Given the description of an element on the screen output the (x, y) to click on. 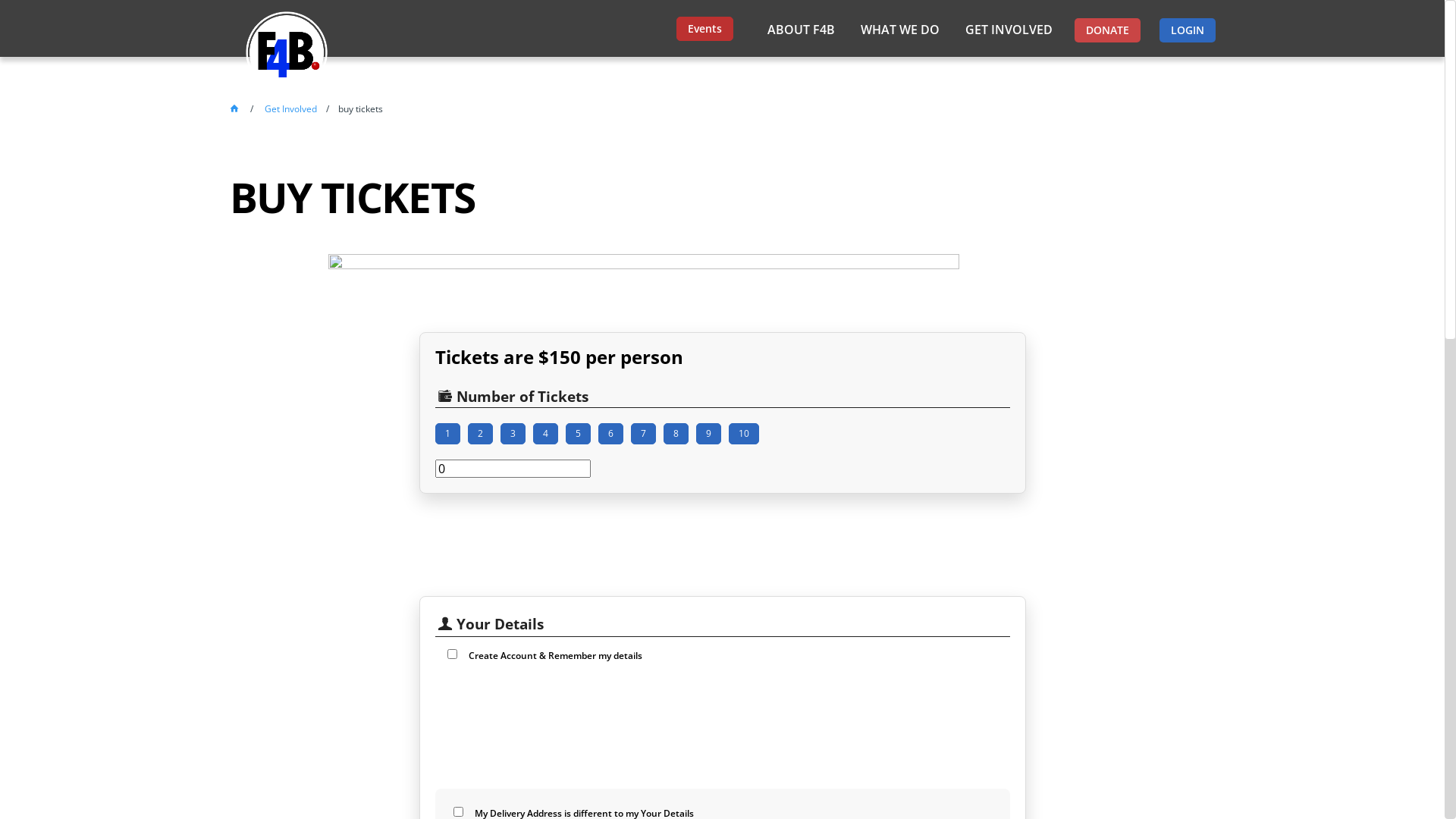
10 Element type: text (743, 433)
3 Element type: text (512, 433)
9 Element type: text (708, 433)
8 Element type: text (674, 433)
4 Element type: text (544, 433)
slider Element type: hover (512, 468)
7 Element type: text (642, 433)
2 Element type: text (479, 433)
DONATE Element type: text (1106, 30)
6 Element type: text (609, 433)
LOGIN Element type: text (1186, 30)
Events Element type: text (704, 28)
Get Involved Element type: text (289, 108)
1 Element type: text (447, 433)
5 Element type: text (577, 433)
